Given the description of an element on the screen output the (x, y) to click on. 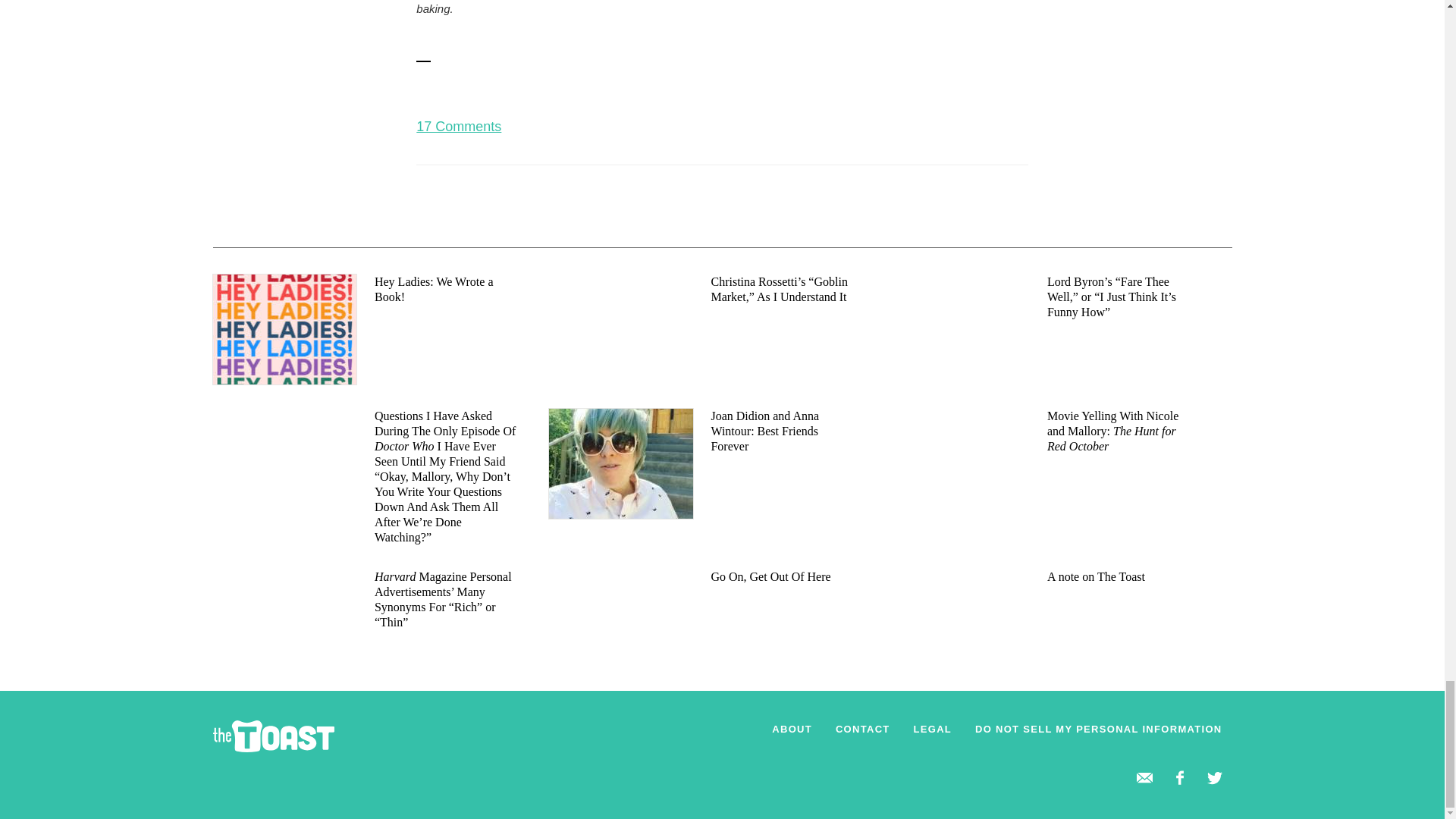
EMAIL CREATED WITH SKETCH. (1145, 777)
TWITTER CREATED WITH SKETCH. (1215, 777)
17 Comments (458, 126)
